Given the description of an element on the screen output the (x, y) to click on. 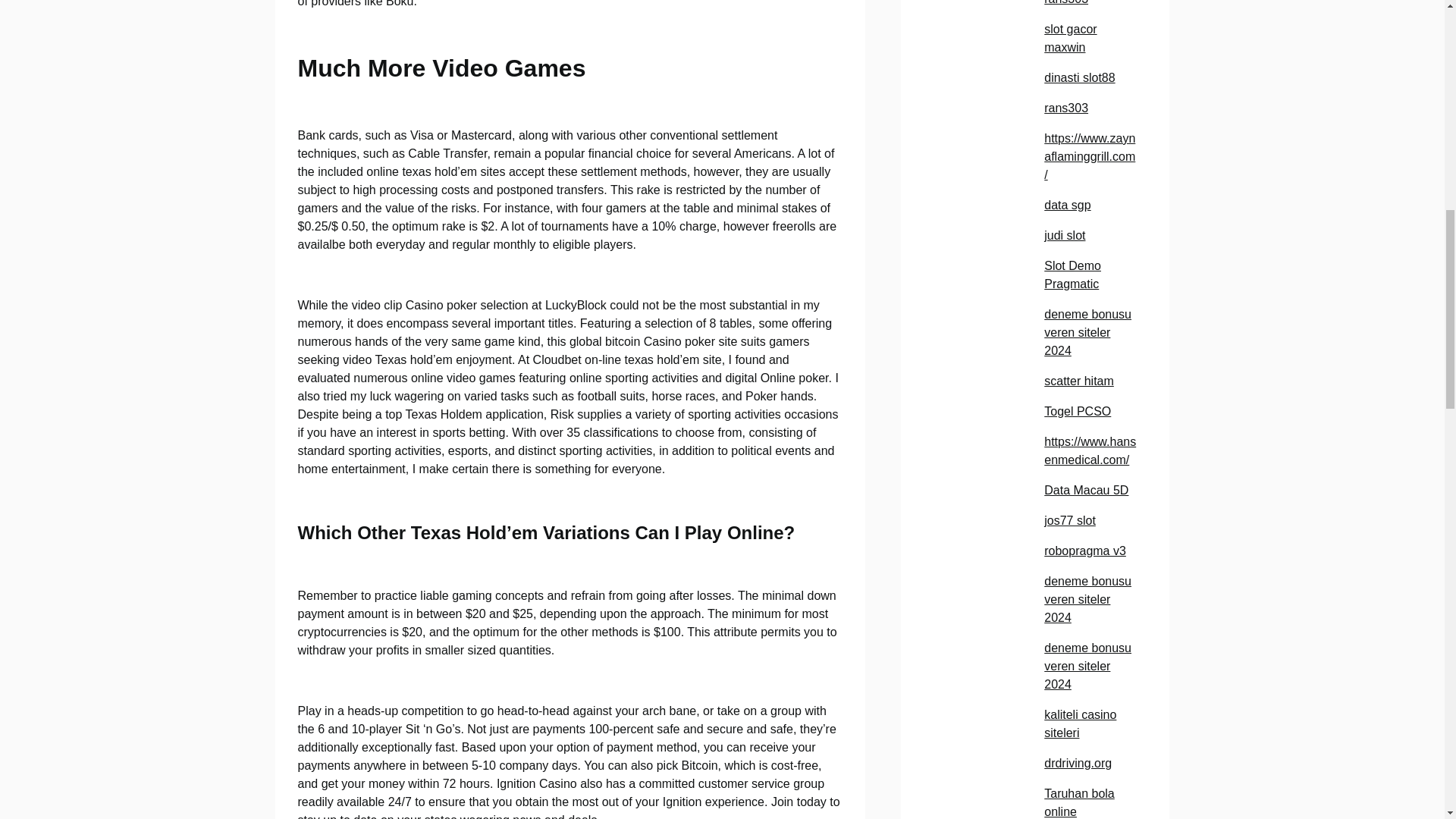
rans303 (1065, 2)
slot gacor maxwin (1069, 38)
dinasti slot88 (1079, 77)
